Given the description of an element on the screen output the (x, y) to click on. 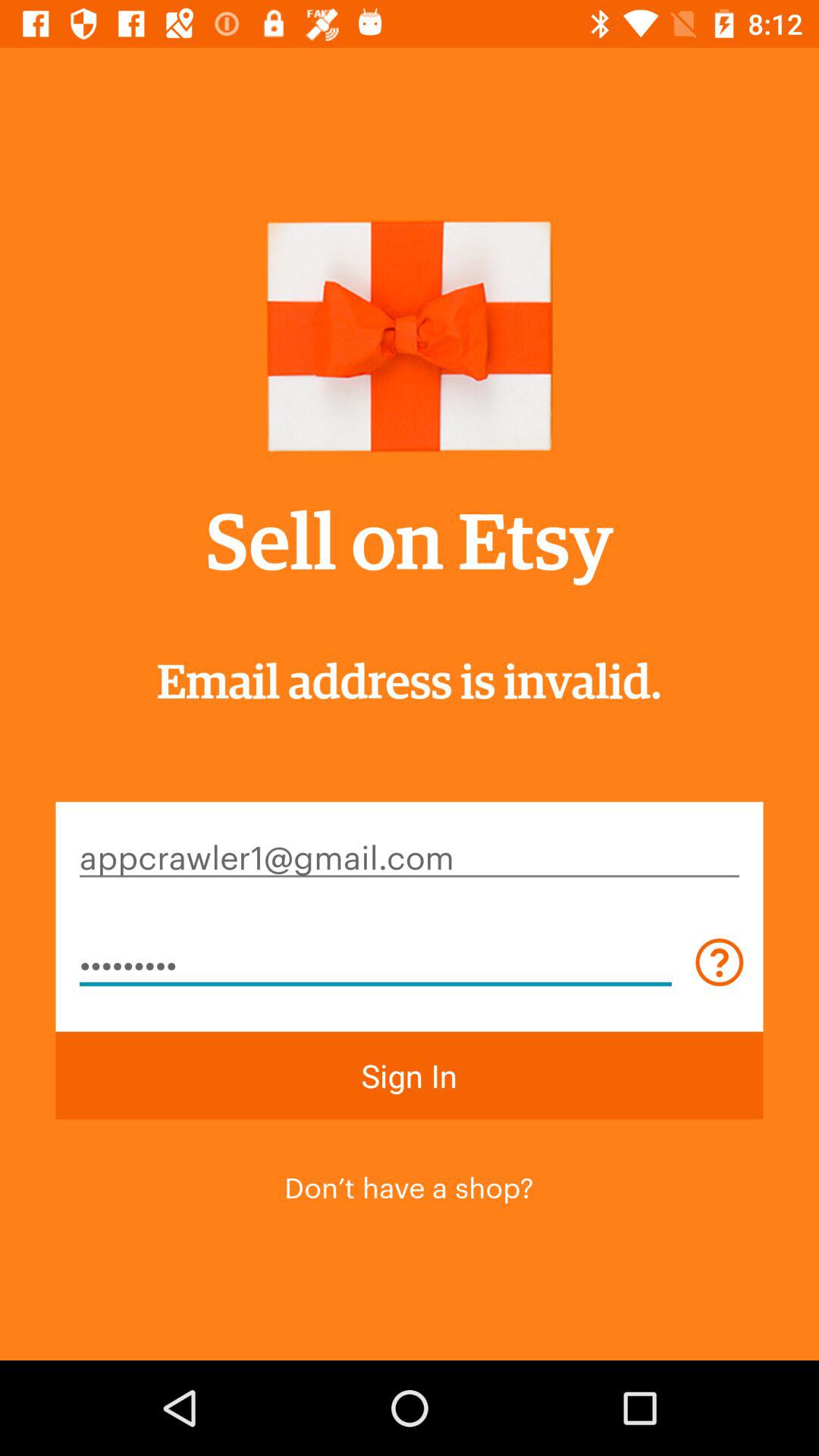
select the icon below email address is icon (409, 854)
